Given the description of an element on the screen output the (x, y) to click on. 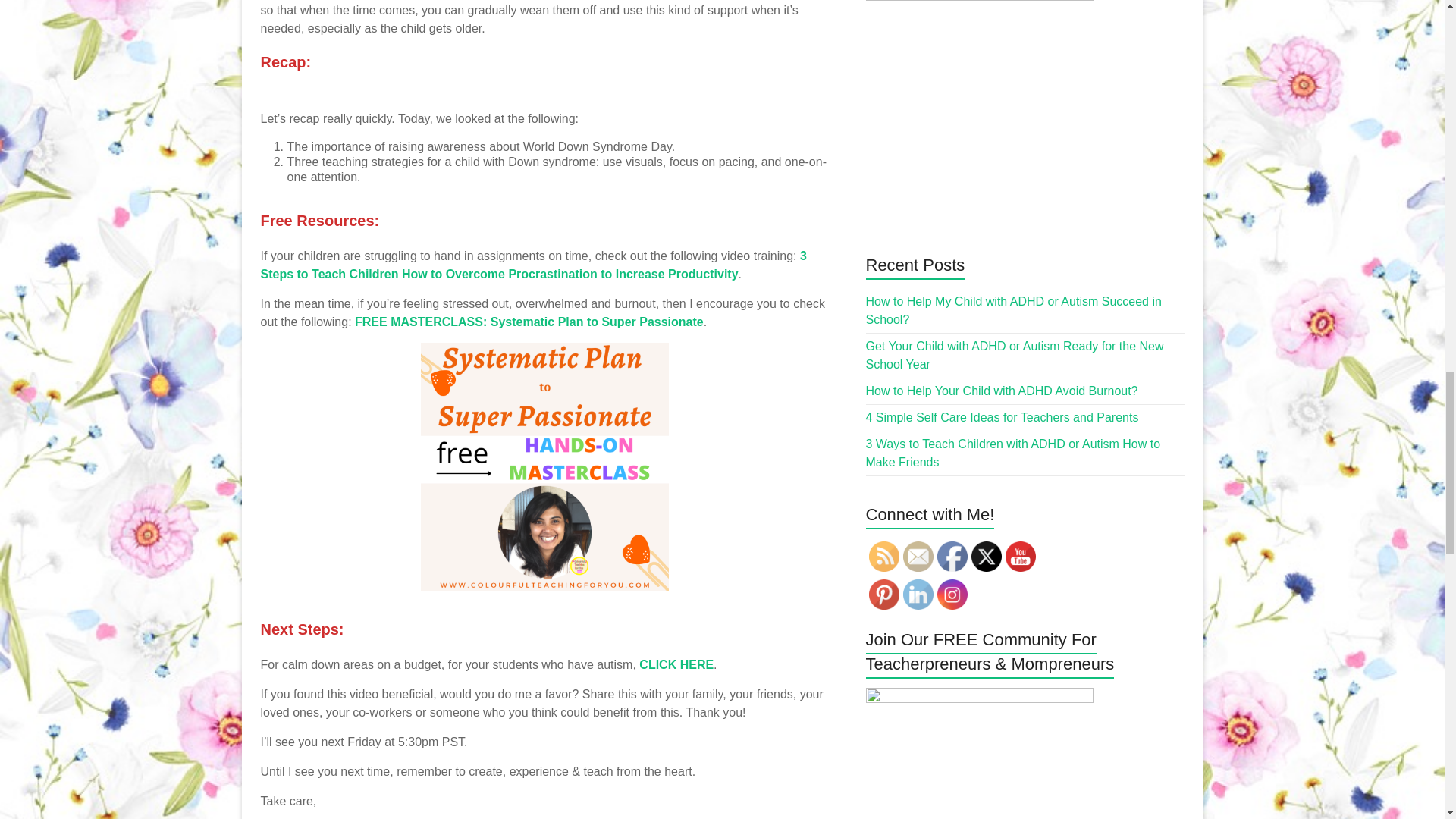
RSS (884, 556)
YouTube (1020, 556)
Twitter (986, 556)
Facebook (952, 556)
Follow by Email (917, 556)
CLICK HERE (674, 664)
FREE MASTERCLASS: Systematic Plan to Super Passionate (529, 321)
Pinterest (884, 594)
